Given the description of an element on the screen output the (x, y) to click on. 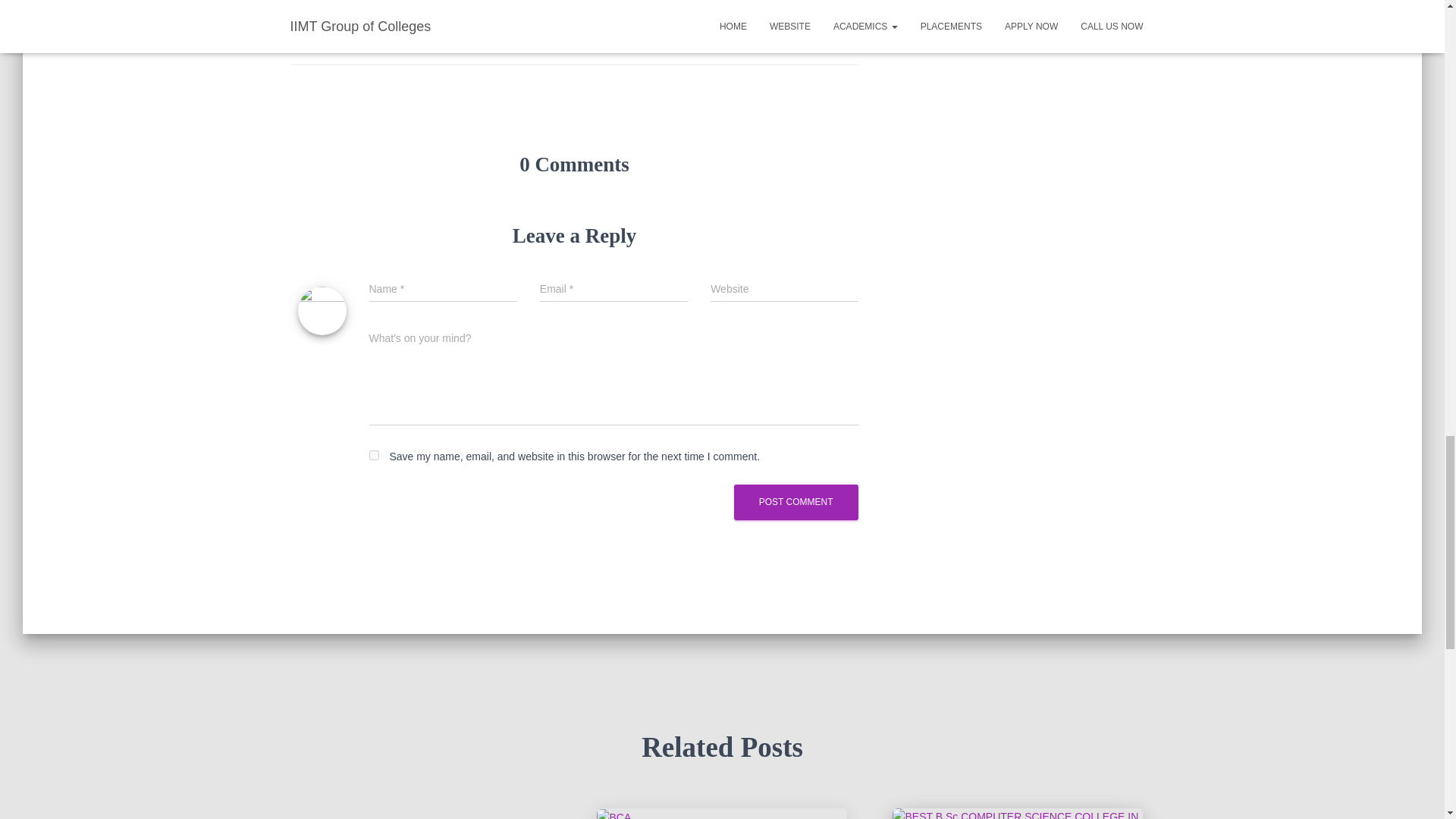
Best engineering college in Uttar Pradesh (391, 11)
top engineering college in Delhi NCR (381, 36)
Top BTech Colleges for Placements in Greater Noida (613, 814)
yes (373, 455)
Post Comment (796, 502)
Post Comment (796, 502)
